Given the description of an element on the screen output the (x, y) to click on. 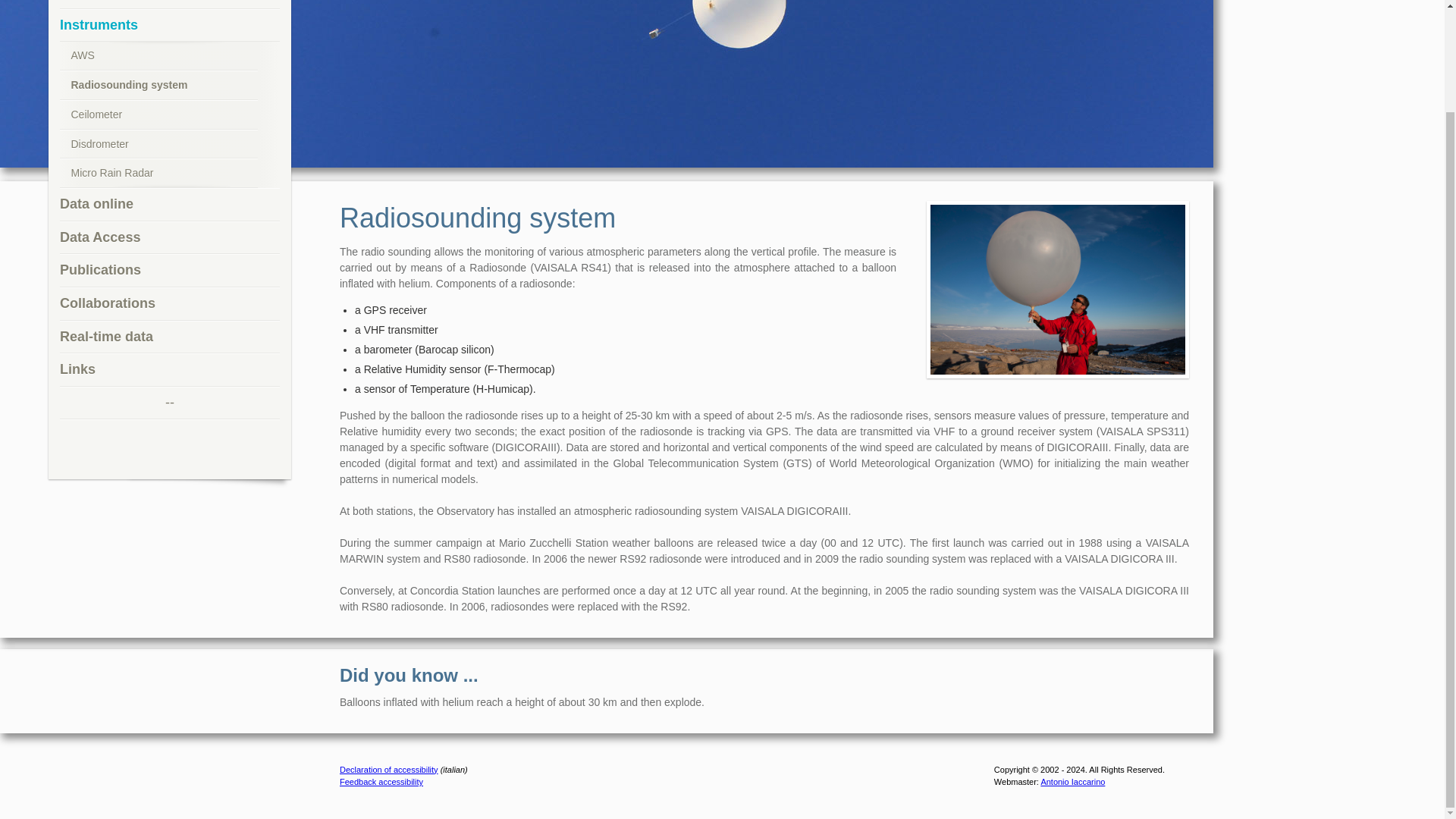
About Us (169, 4)
AWS (158, 55)
About Us (169, 4)
Feedback accessibility (381, 781)
Data Access (169, 237)
Antonio Iaccarino (1073, 781)
Radiosounding system (158, 84)
-- (169, 403)
Instruments (169, 25)
Ceilometer (158, 114)
Data online (169, 204)
Instruments (169, 25)
Data online (169, 204)
Micro Rain Radar (158, 173)
Ceilometer (158, 114)
